Given the description of an element on the screen output the (x, y) to click on. 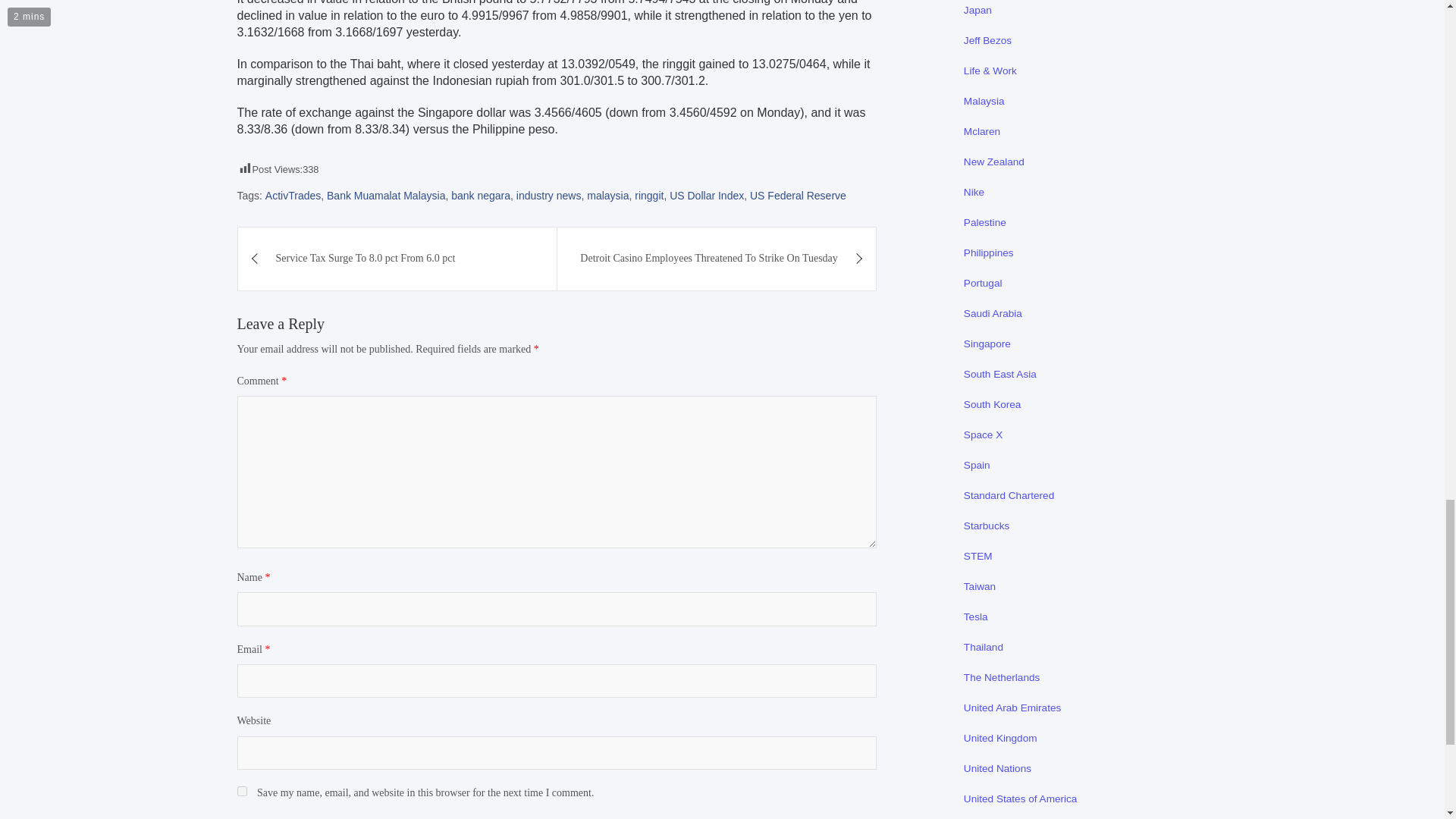
industry news (548, 195)
bank negara (481, 195)
ActivTrades (292, 195)
Detroit Casino Employees Threatened To Strike On Tuesday (716, 258)
Service Tax Surge To 8.0 pct From 6.0 pct (397, 258)
yes (240, 791)
ringgit (648, 195)
US Federal Reserve (797, 195)
Bank Muamalat Malaysia (385, 195)
US Dollar Index (706, 195)
malaysia (607, 195)
